Given the description of an element on the screen output the (x, y) to click on. 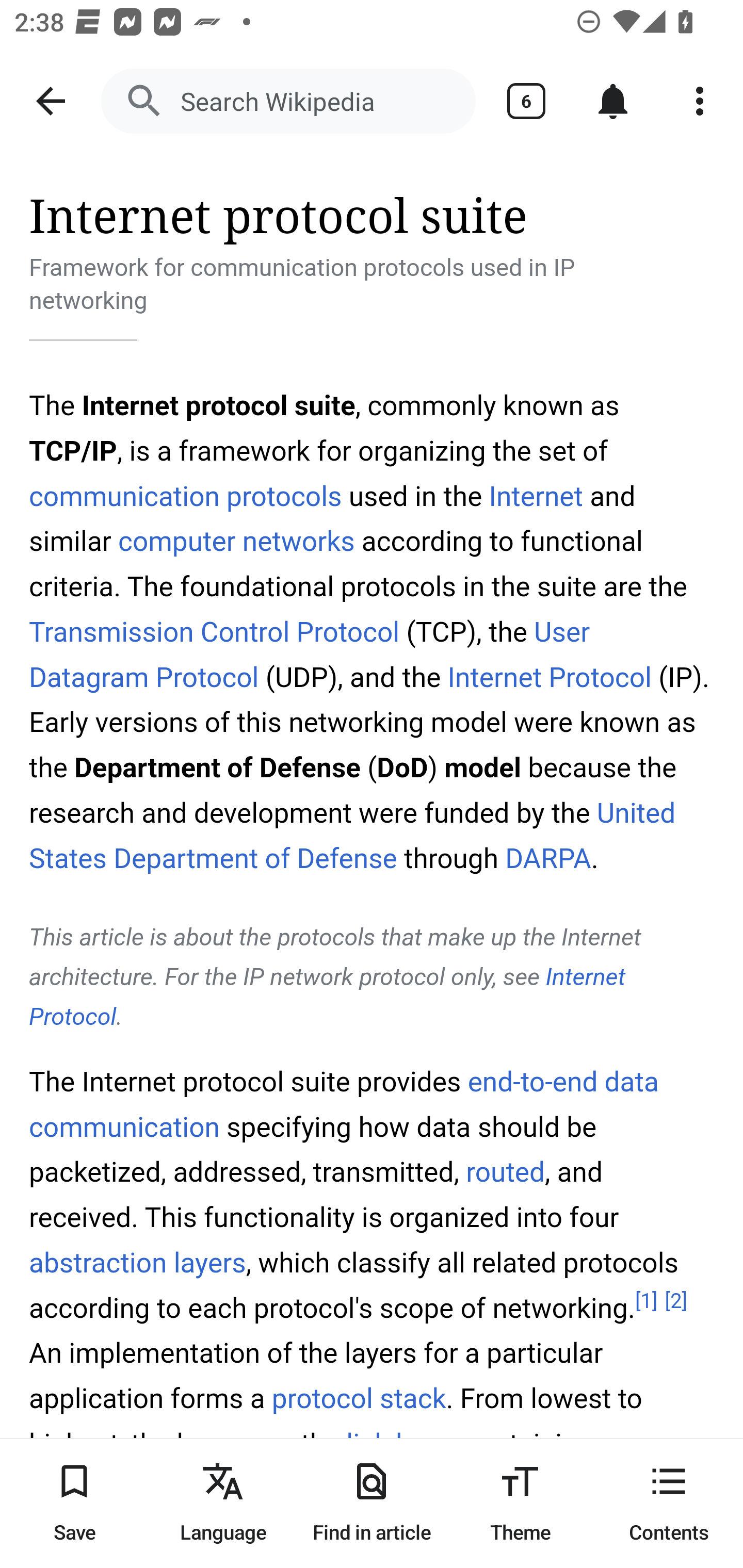
Show tabs 6 (525, 100)
Notifications (612, 100)
Navigate up (50, 101)
More options (699, 101)
Search Wikipedia (288, 100)
communication protocols (185, 495)
Internet (535, 495)
computer networks (236, 542)
Transmission Control Protocol (214, 631)
User Datagram Protocol (308, 654)
Internet Protocol (548, 677)
United States Department of Defense (352, 835)
DARPA (547, 858)
Internet Protocol (327, 997)
end-to-end data communication (343, 1104)
routed (505, 1172)
abstraction layers (137, 1261)
[] [ 1 ] (646, 1300)
[] [ 2 ] (676, 1300)
protocol stack (359, 1399)
Save (74, 1502)
Language (222, 1502)
Find in article (371, 1502)
Theme (519, 1502)
Contents (668, 1502)
